Given the description of an element on the screen output the (x, y) to click on. 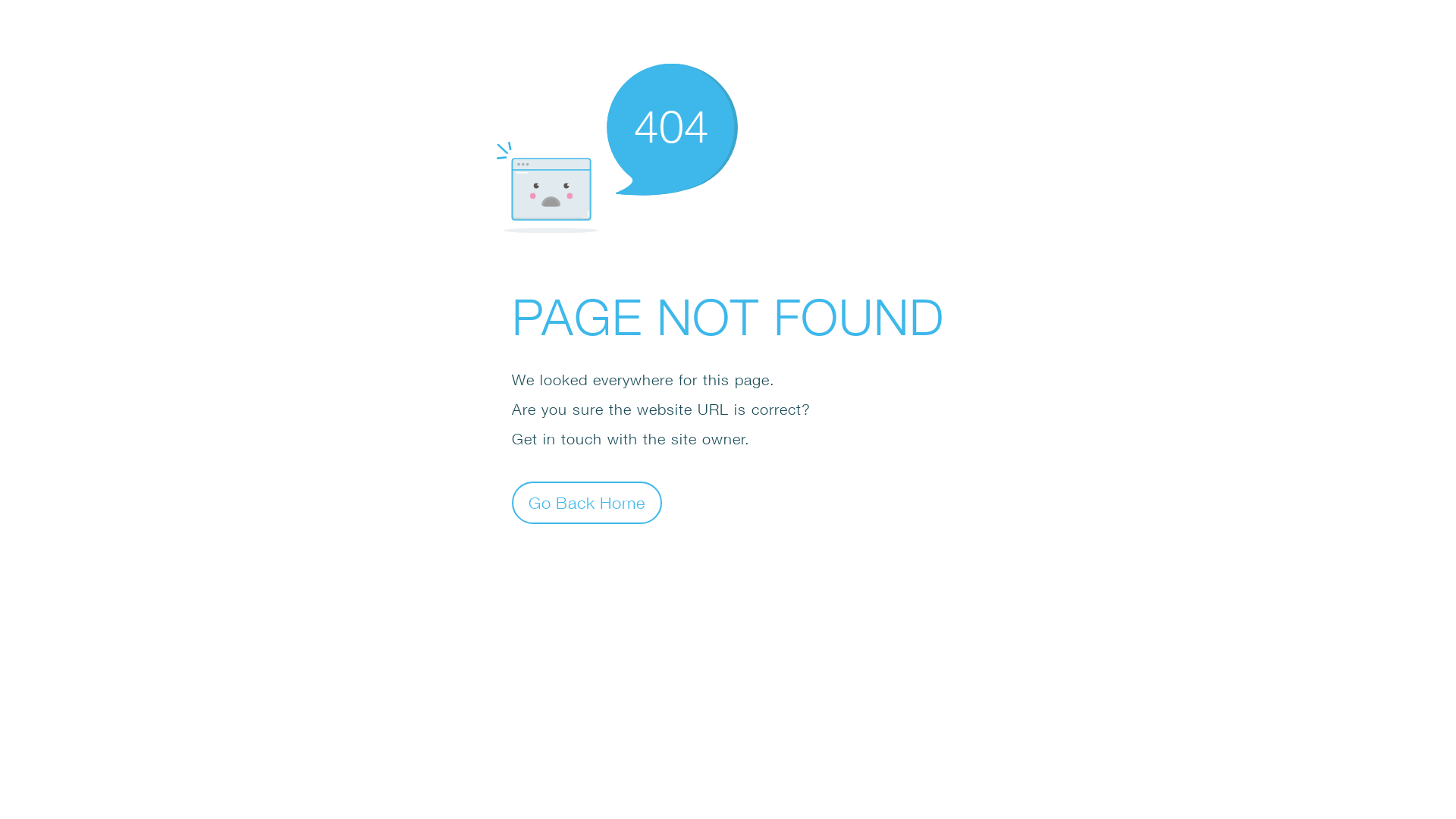
Go Back Home Element type: text (586, 502)
